Given the description of an element on the screen output the (x, y) to click on. 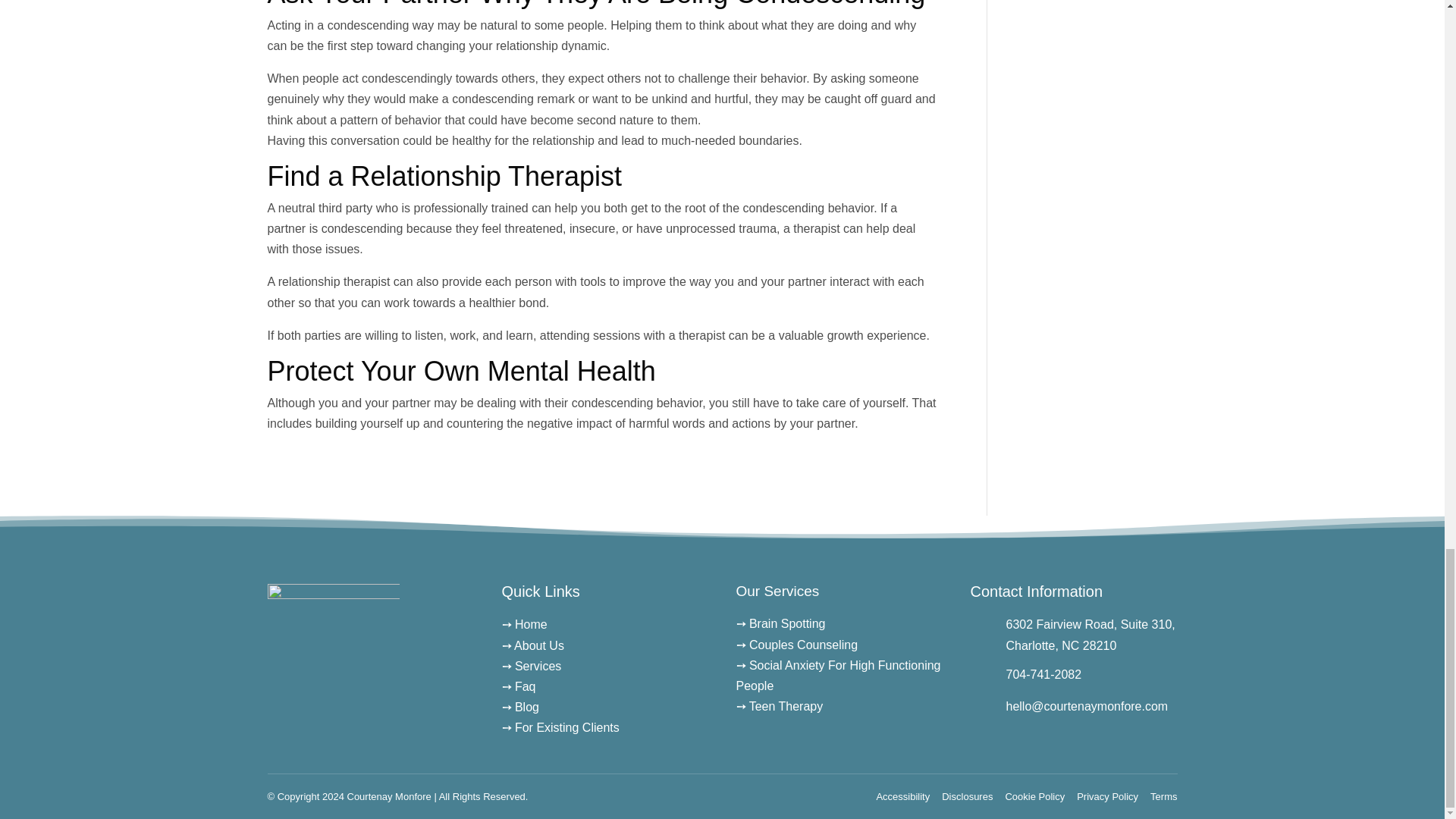
Privacy Policy (1107, 795)
CourtenayFinalLogoUpdatedweb (332, 650)
Accessibility (903, 795)
704-741-2082 (1043, 674)
Terms (1163, 795)
Cookie Policy (1034, 795)
Disclosures (967, 795)
